Given the description of an element on the screen output the (x, y) to click on. 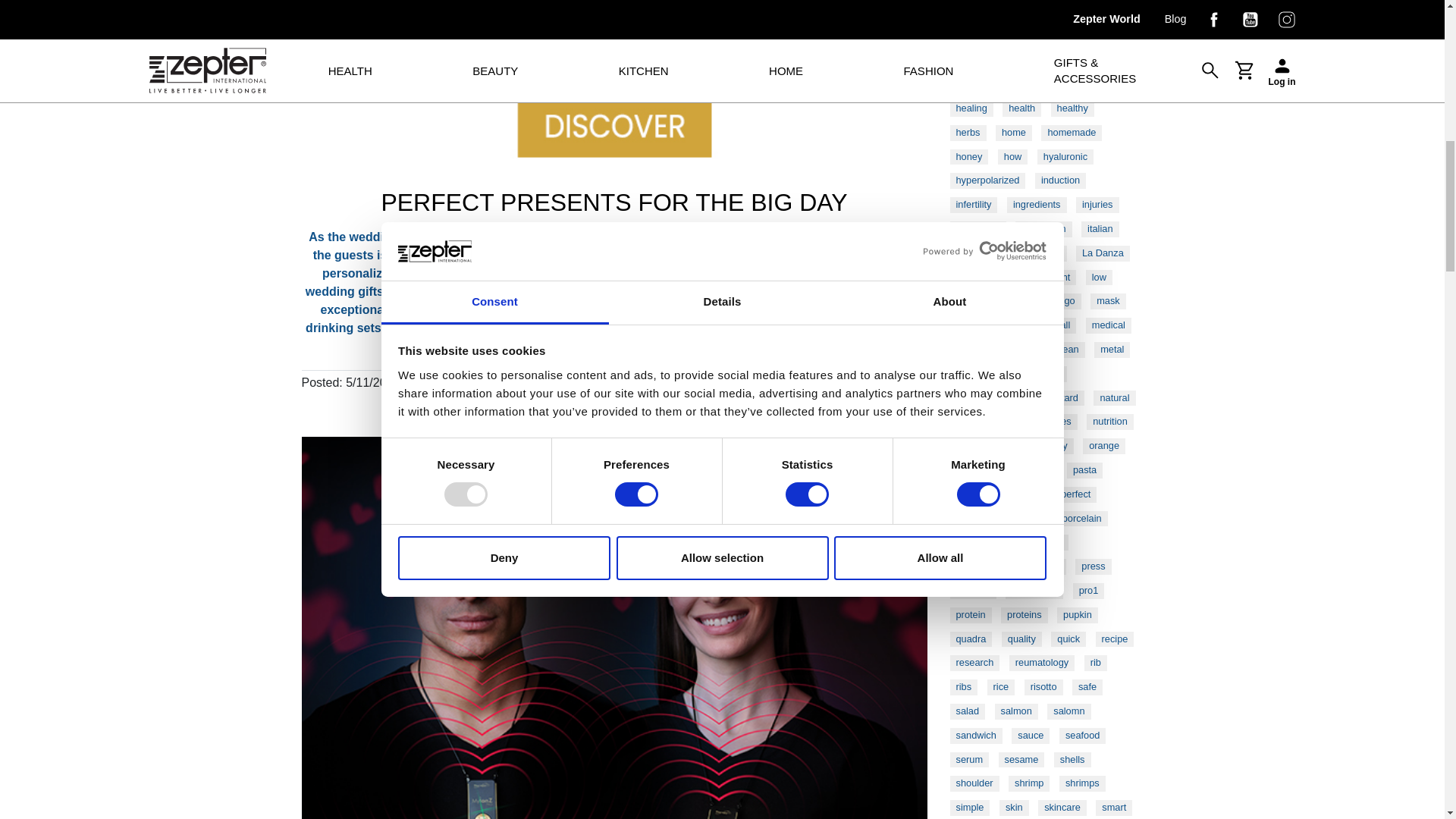
Perfect Presents for the Big Day (614, 91)
